Given the description of an element on the screen output the (x, y) to click on. 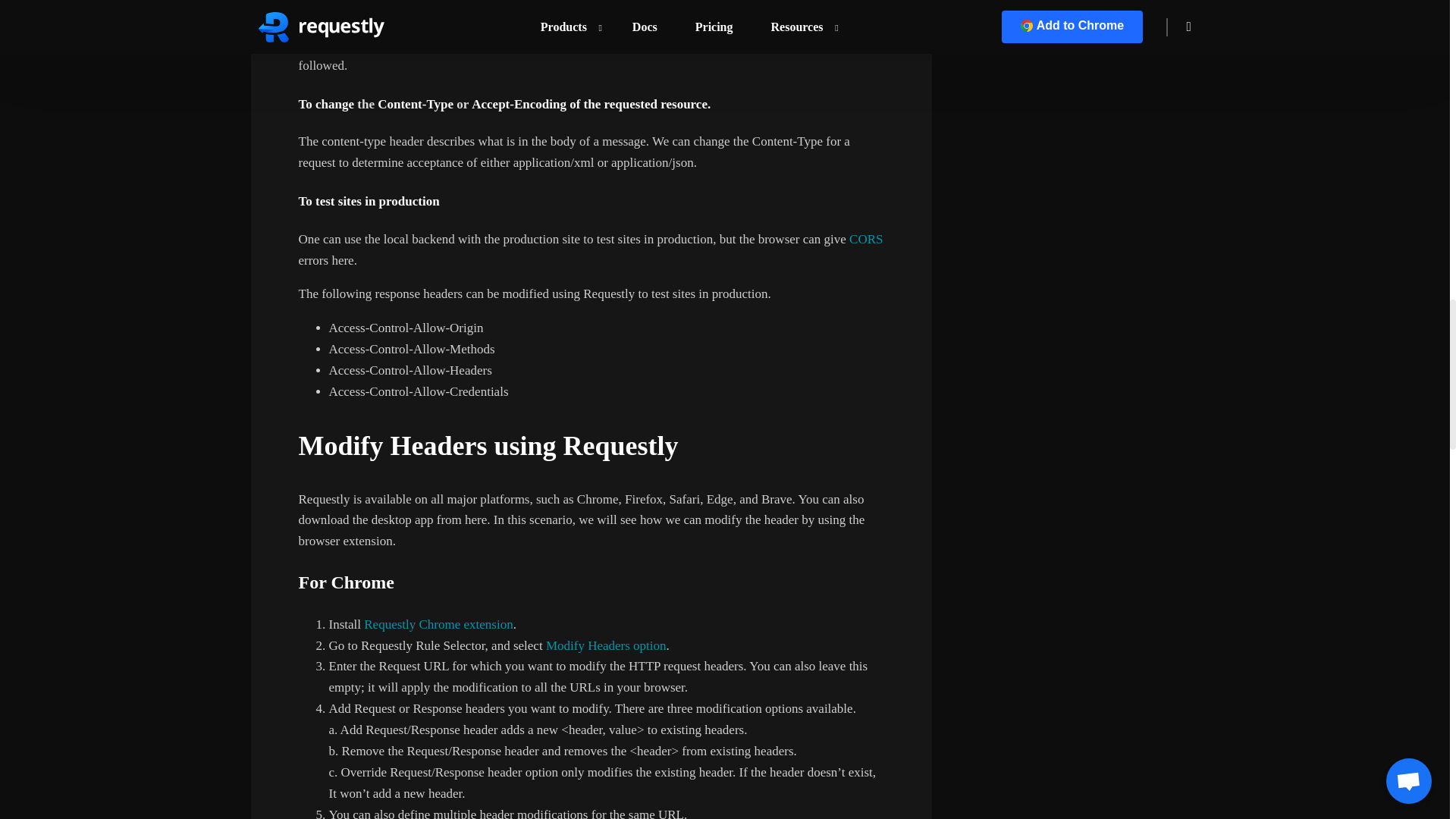
CORS (864, 238)
Requestly Chrome extension (438, 624)
